Given the description of an element on the screen output the (x, y) to click on. 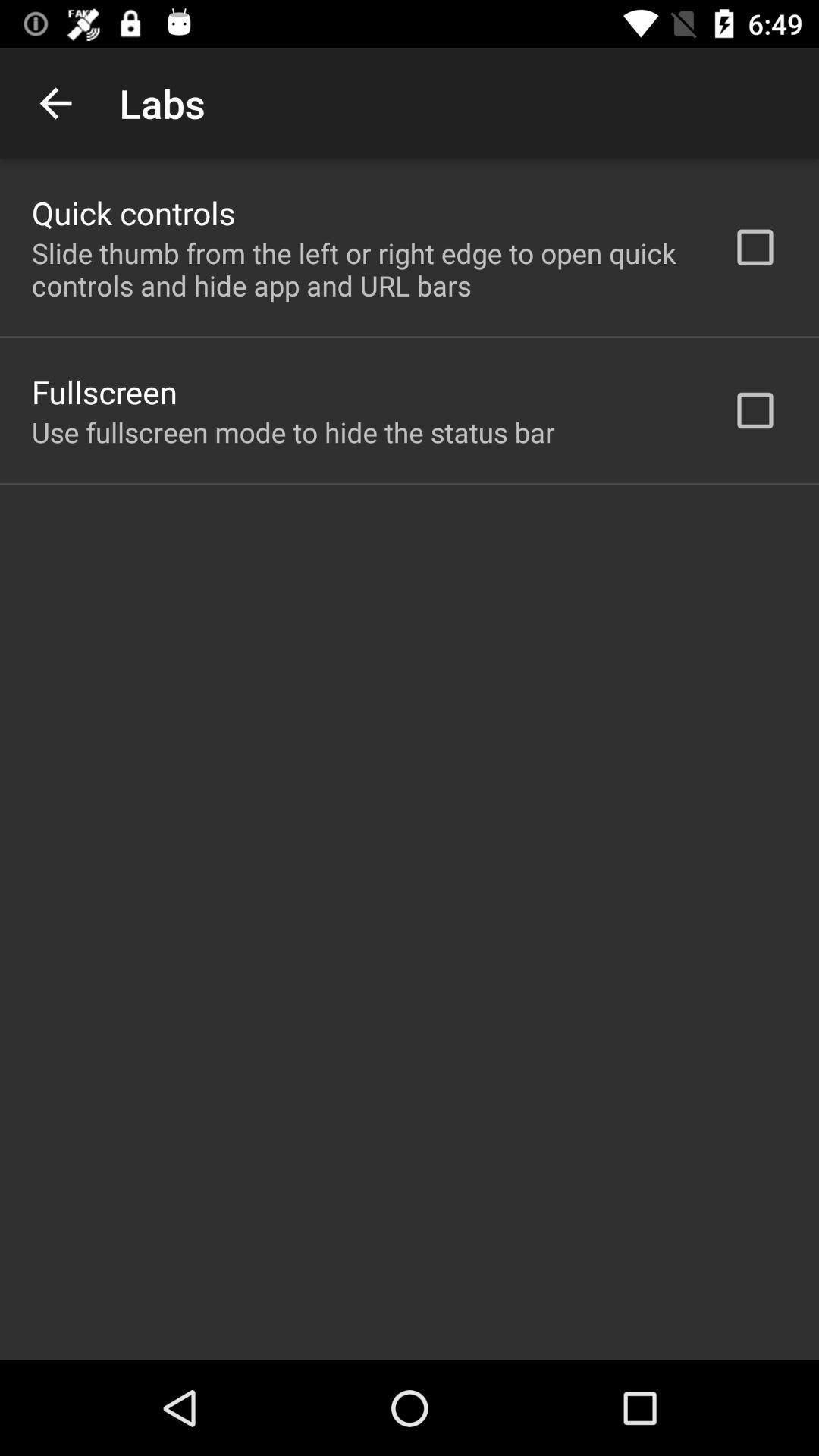
choose icon to the left of the labs app (55, 103)
